Given the description of an element on the screen output the (x, y) to click on. 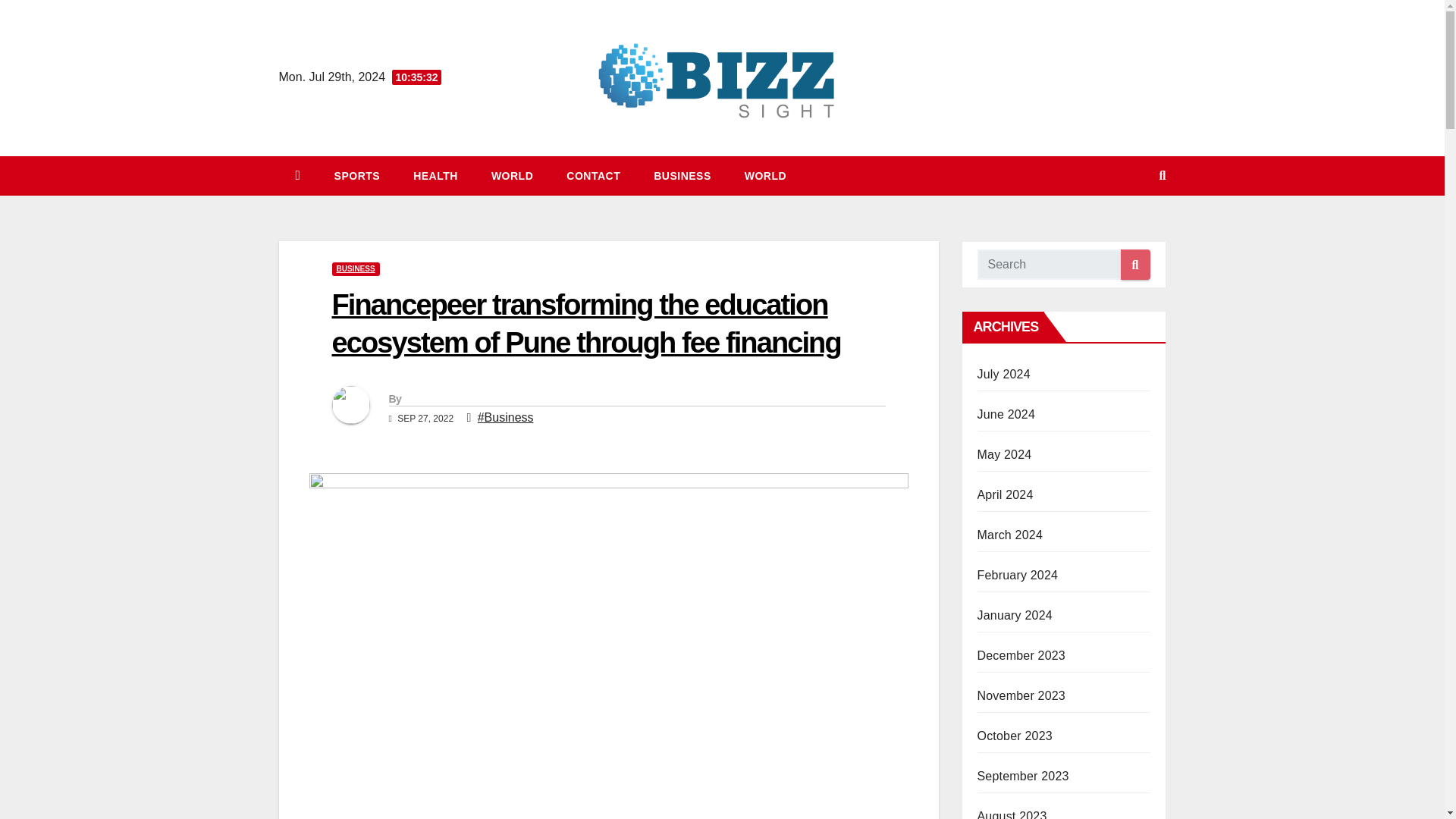
Sports (357, 175)
Contact (593, 175)
BUSINESS (355, 269)
BUSINESS (682, 175)
WORLD (512, 175)
HEALTH (435, 175)
SPORTS (357, 175)
Business (682, 175)
World (512, 175)
CONTACT (593, 175)
WORLD (765, 175)
World (765, 175)
Health (435, 175)
